Given the description of an element on the screen output the (x, y) to click on. 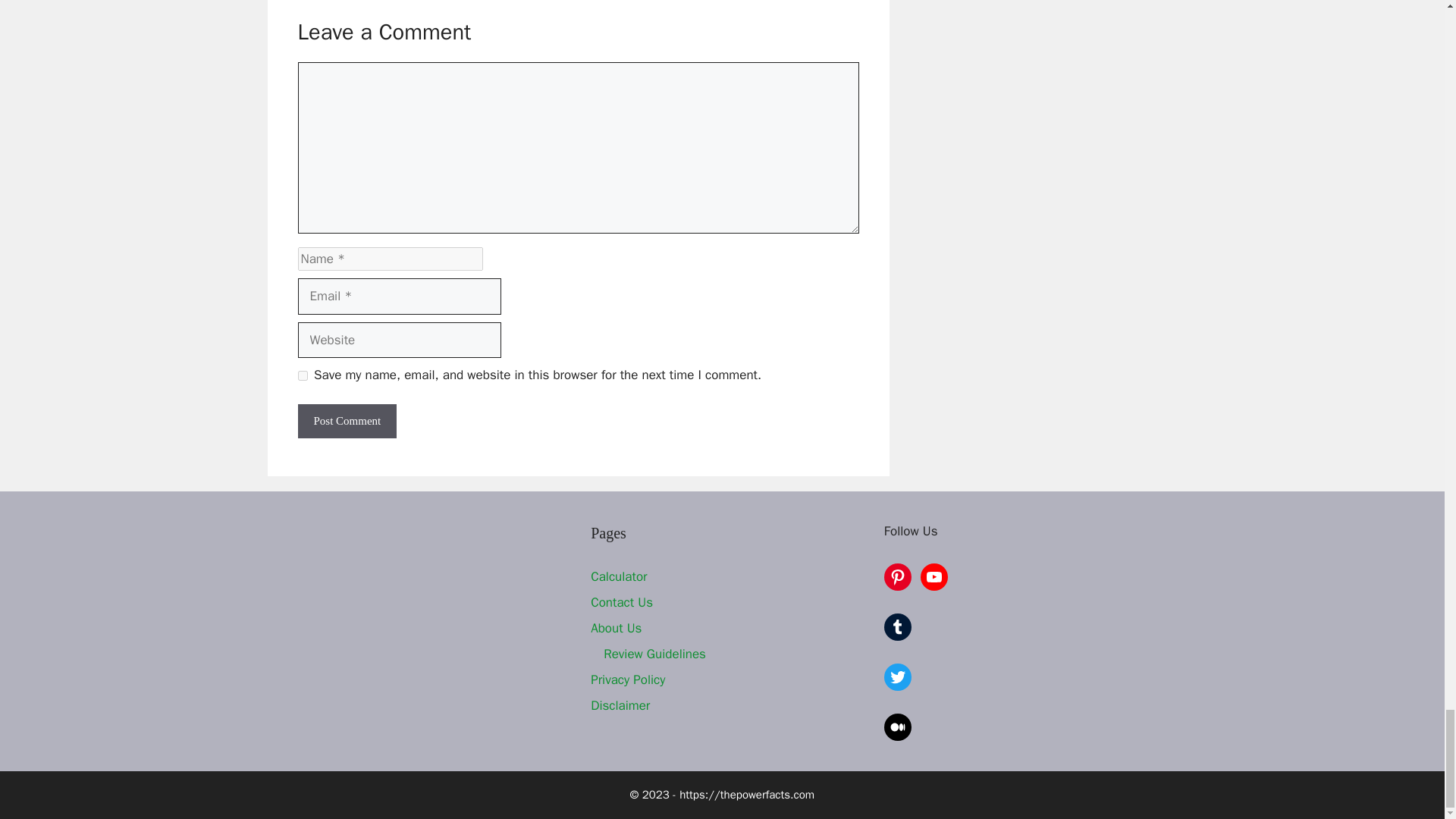
yes (302, 375)
Post Comment (346, 421)
Calculator (618, 576)
About Us (616, 627)
Contact Us (621, 602)
Post Comment (346, 421)
